Given the description of an element on the screen output the (x, y) to click on. 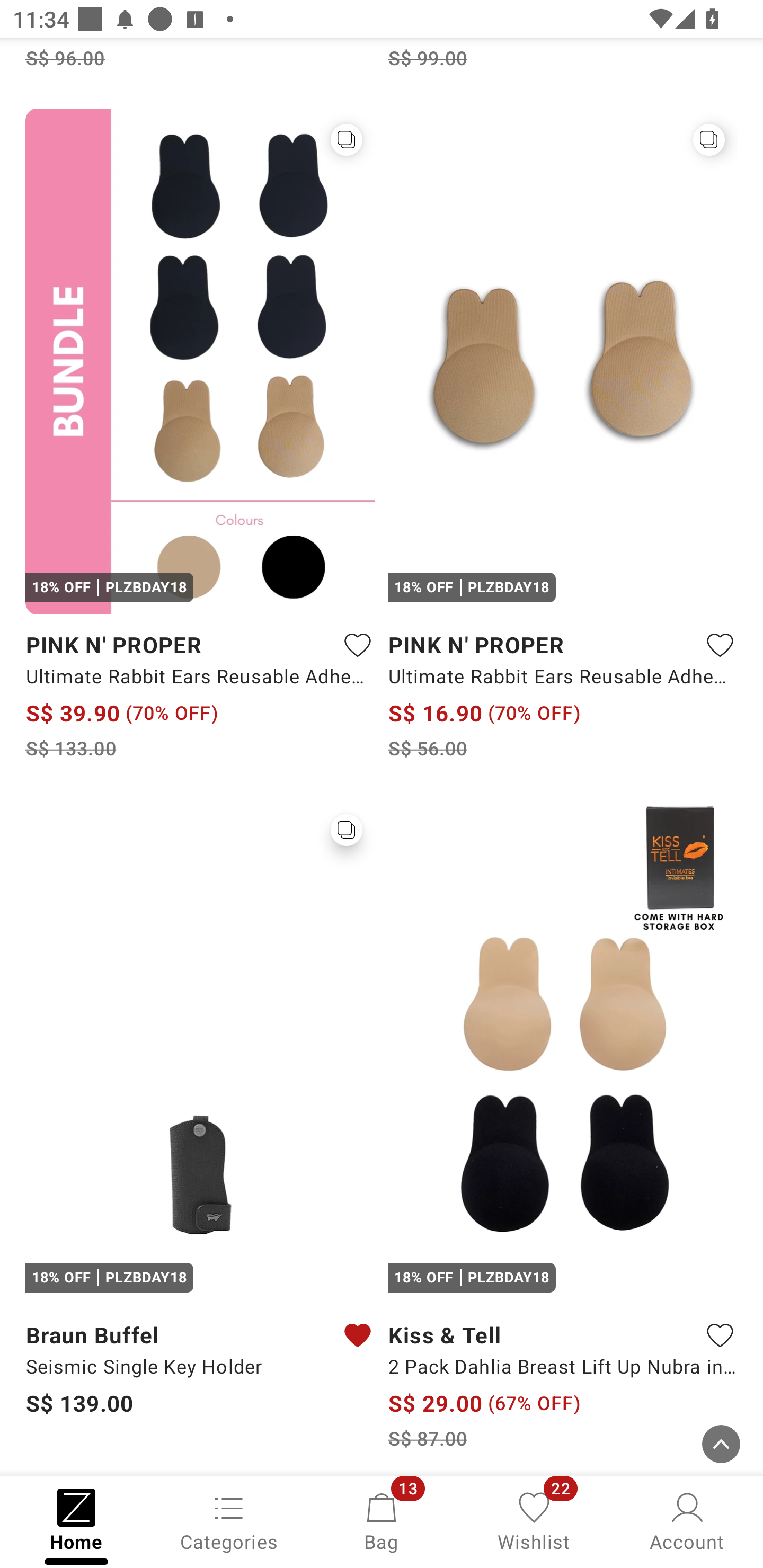
Categories (228, 1519)
Bag, 13 new notifications Bag (381, 1519)
Wishlist, 22 new notifications Wishlist (533, 1519)
Account (686, 1519)
